Given the description of an element on the screen output the (x, y) to click on. 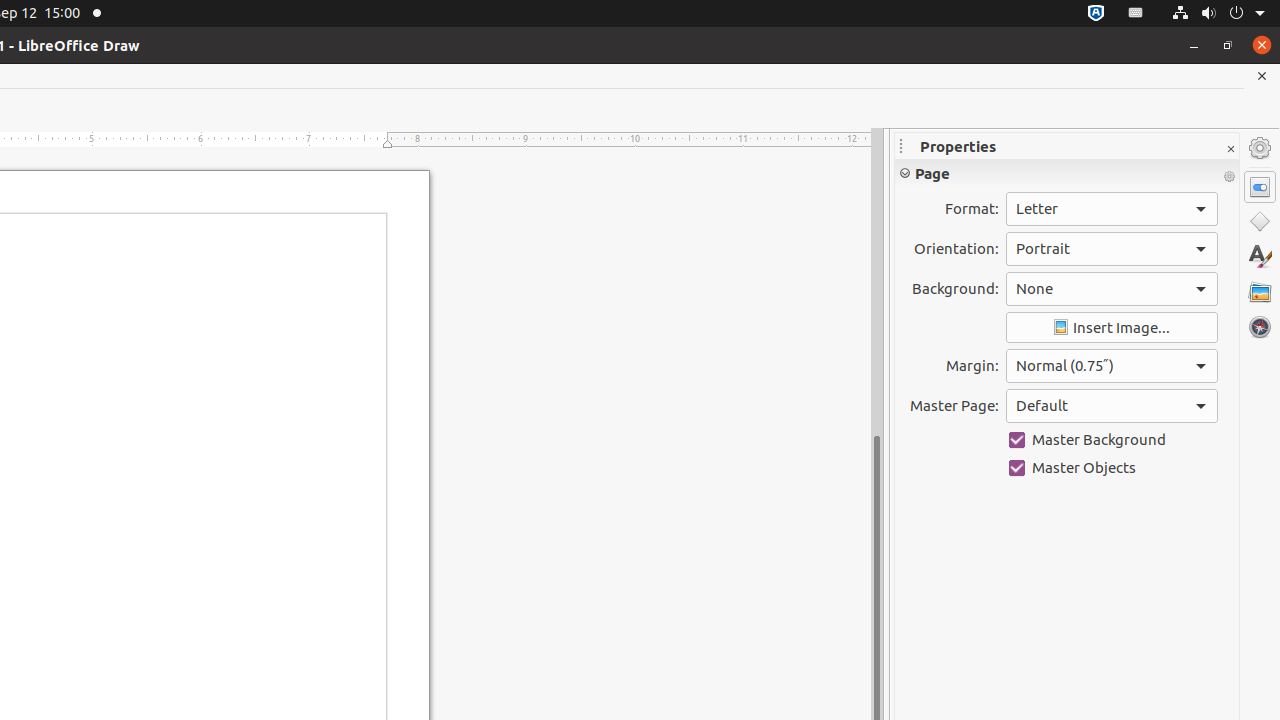
:1.21/StatusNotifierItem Element type: menu (1136, 13)
:1.72/StatusNotifierItem Element type: menu (1096, 13)
Orientation: Element type: combo-box (1112, 249)
Shapes Element type: radio-button (1260, 222)
Master Objects Element type: check-box (1112, 468)
